Given the description of an element on the screen output the (x, y) to click on. 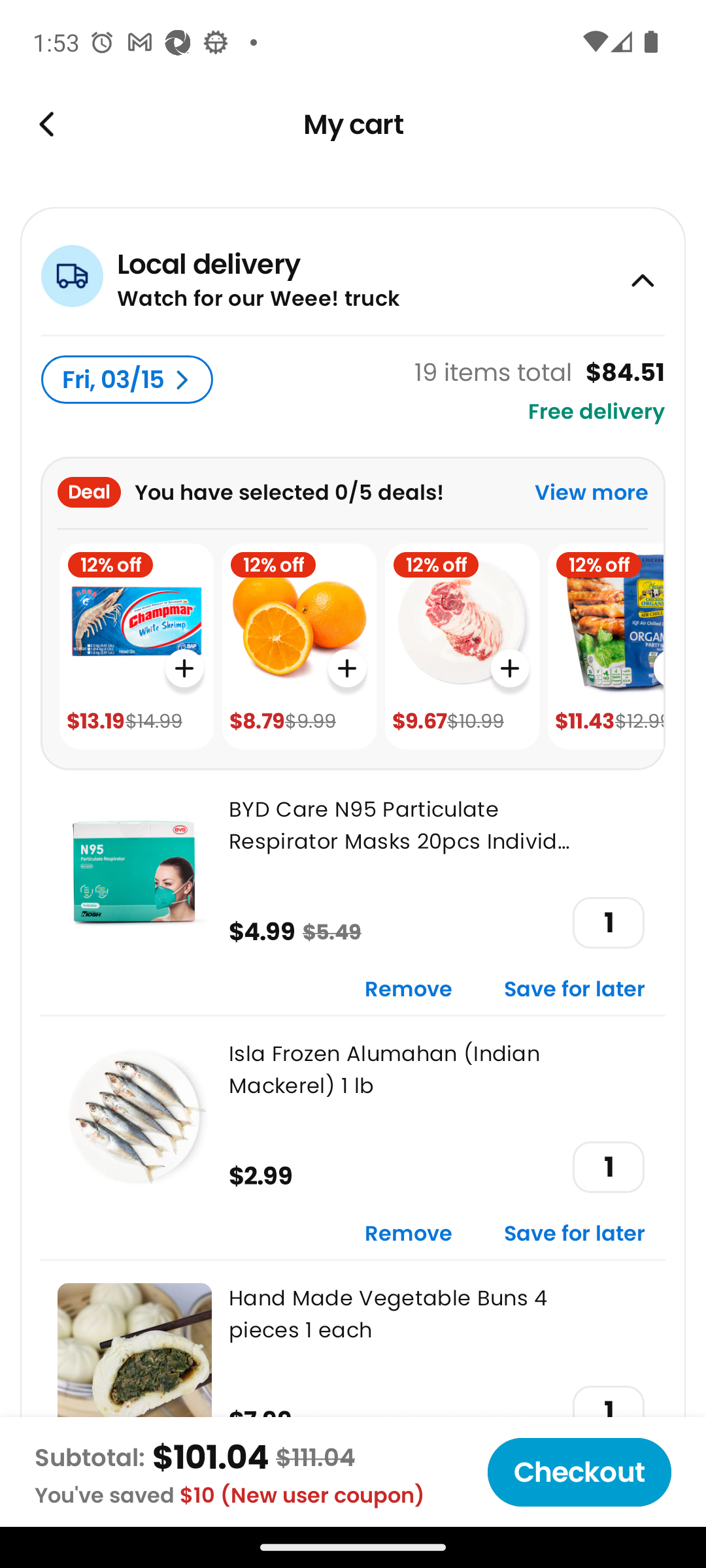
Local delivery Watch for our Weee! truck (352, 269)
Fri, 03/15 (126, 379)
12% off $13.19 $14.99 (136, 646)
12% off $8.79 $9.99 (299, 646)
12% off $9.67 $10.99 (461, 646)
12% off $11.43 $12.99 (605, 646)
1 (608, 922)
Remove (408, 989)
Save for later (574, 989)
1 (608, 1167)
Remove (408, 1234)
Save for later (574, 1234)
Checkout (579, 1471)
